Given the description of an element on the screen output the (x, y) to click on. 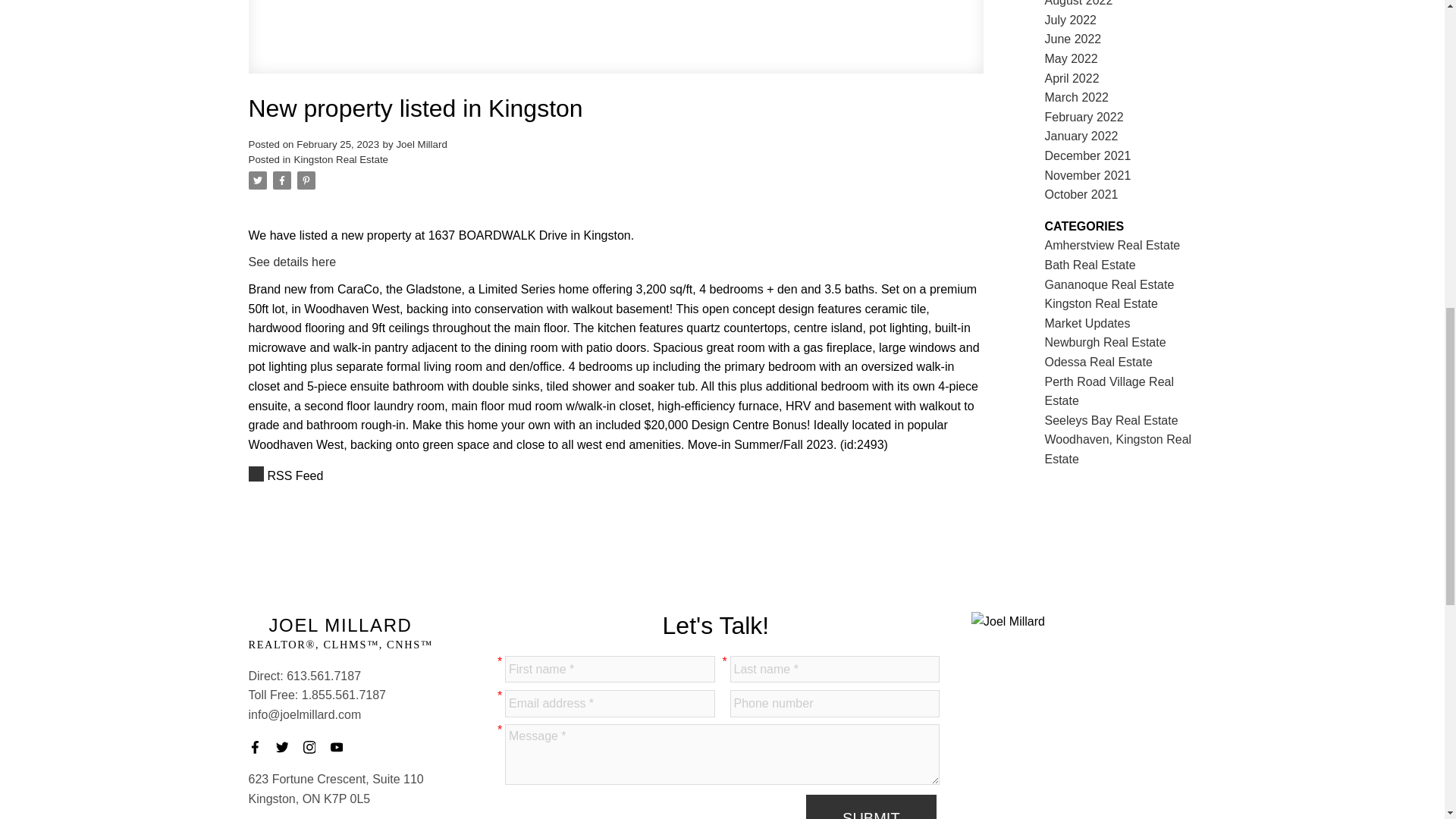
RSS (616, 476)
Facebook (258, 746)
See details here (292, 261)
instagram (313, 746)
Twitter (286, 746)
YouTube (341, 746)
Kingston Real Estate (341, 159)
